Given the description of an element on the screen output the (x, y) to click on. 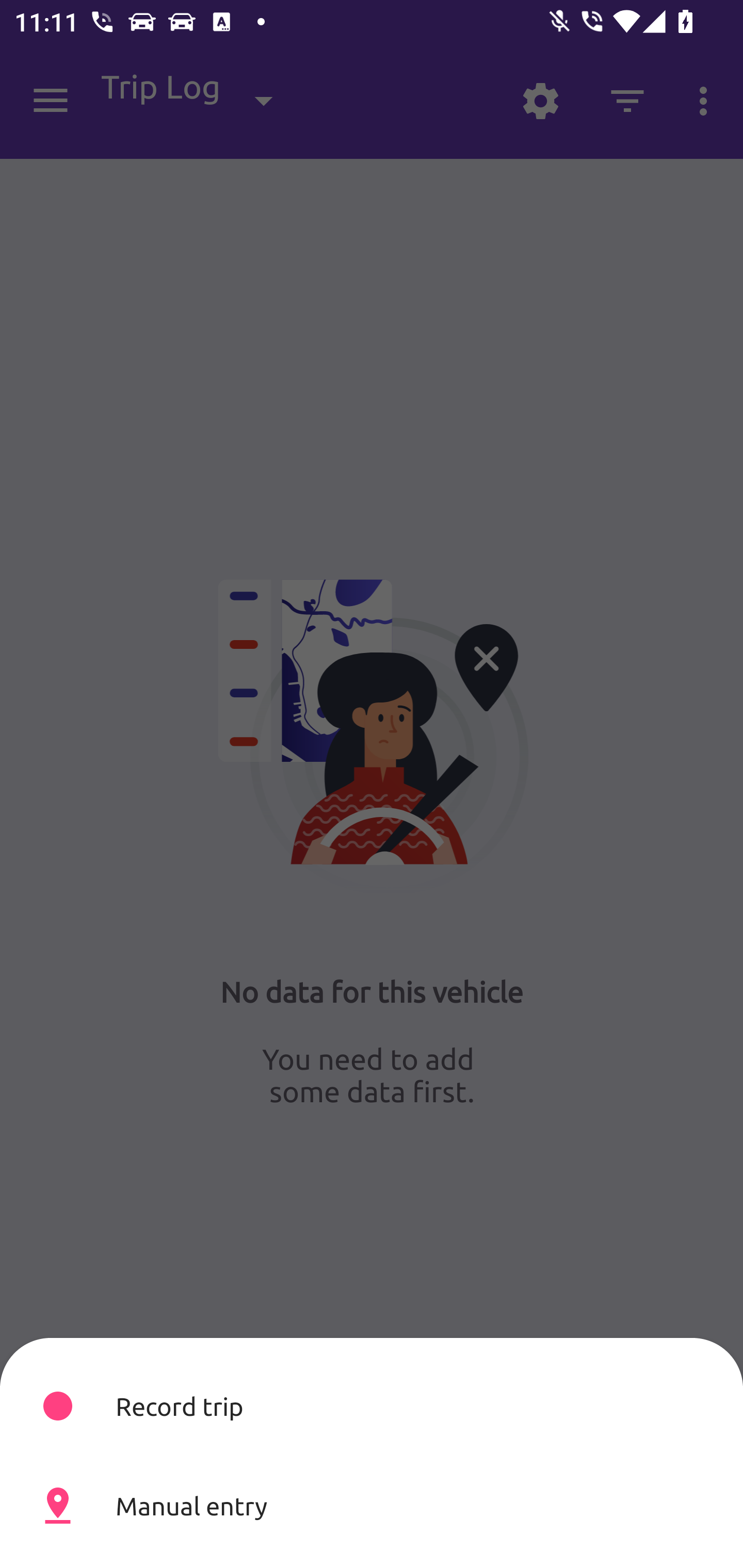
Add screen Record trip (371, 1405)
Add screen Manual entry (371, 1505)
